Given the description of an element on the screen output the (x, y) to click on. 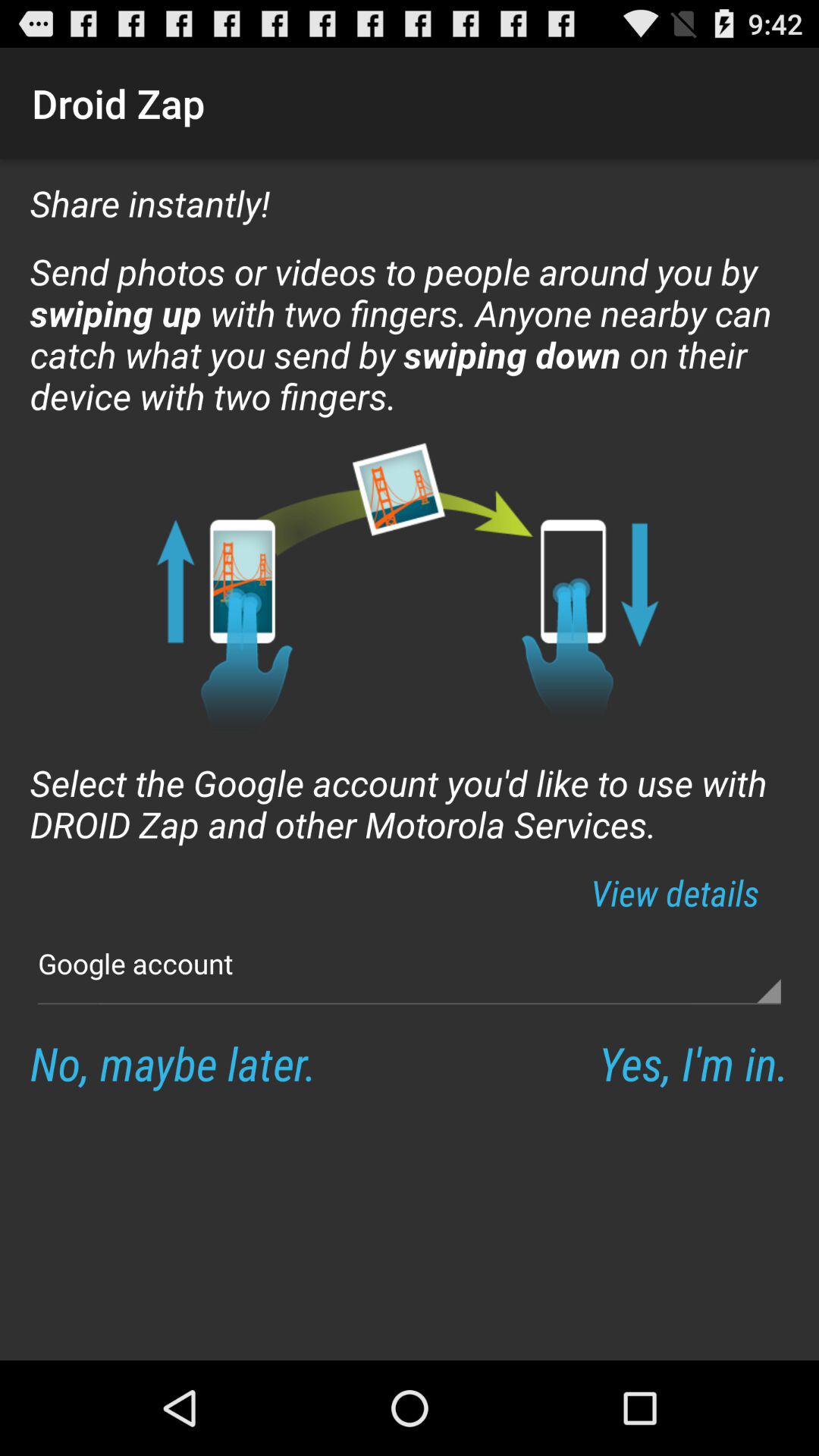
flip to no, maybe later. icon (173, 1062)
